Given the description of an element on the screen output the (x, y) to click on. 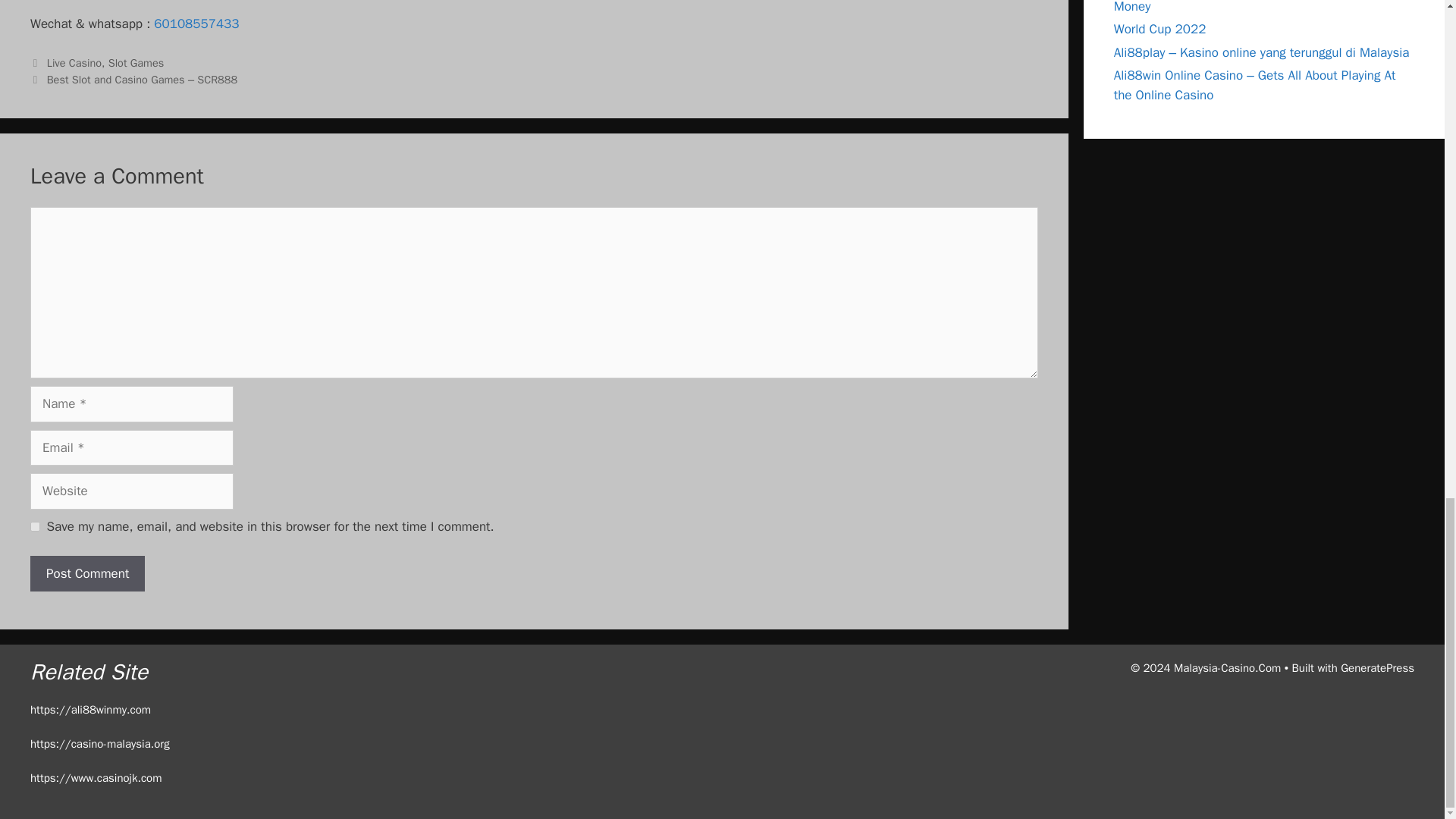
World Cup 2022 (1160, 28)
Slot Games (135, 62)
60108557433 (196, 23)
Online Casino: Get Free Bonuses And Win Real Money (1245, 7)
GeneratePress (1376, 667)
Post Comment (87, 574)
Live Casino (73, 62)
Next (133, 79)
yes (35, 526)
Post Comment (87, 574)
